Given the description of an element on the screen output the (x, y) to click on. 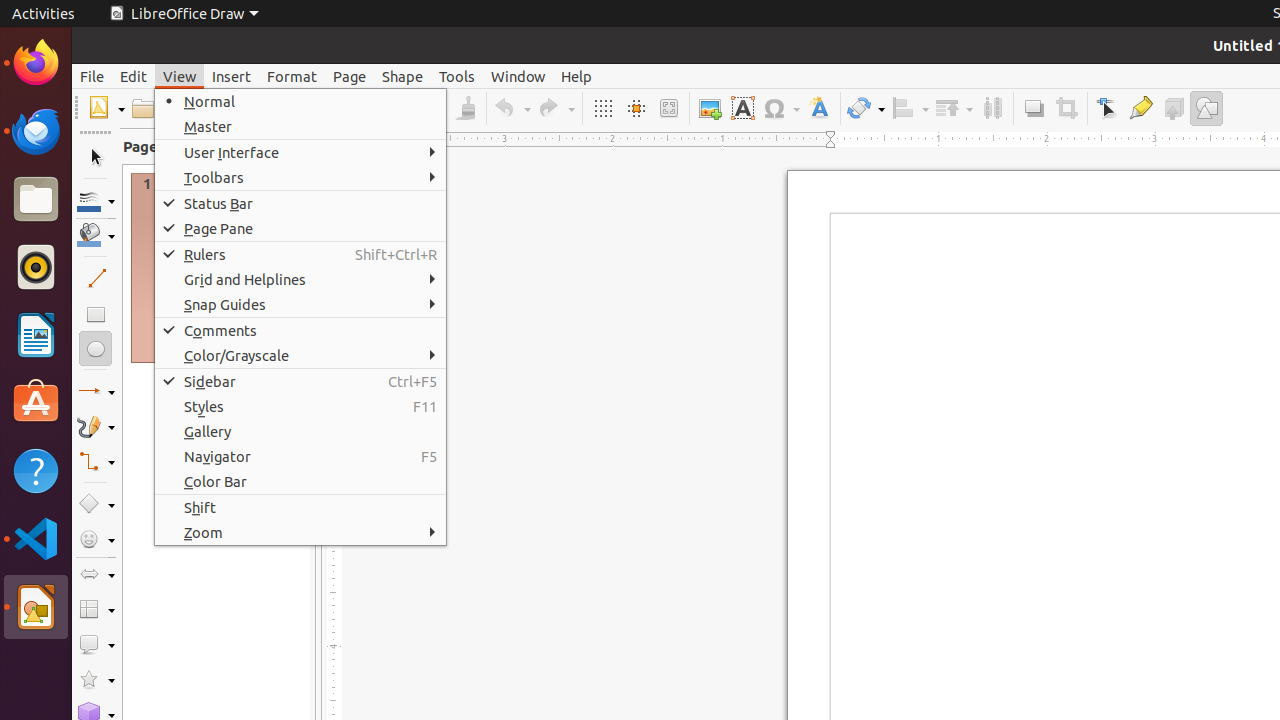
Edit Points Element type: push-button (1107, 108)
Draw Functions Element type: toggle-button (1206, 108)
Styles Element type: menu-item (300, 406)
Undo Element type: push-button (512, 108)
View Element type: menu (179, 76)
